Given the description of an element on the screen output the (x, y) to click on. 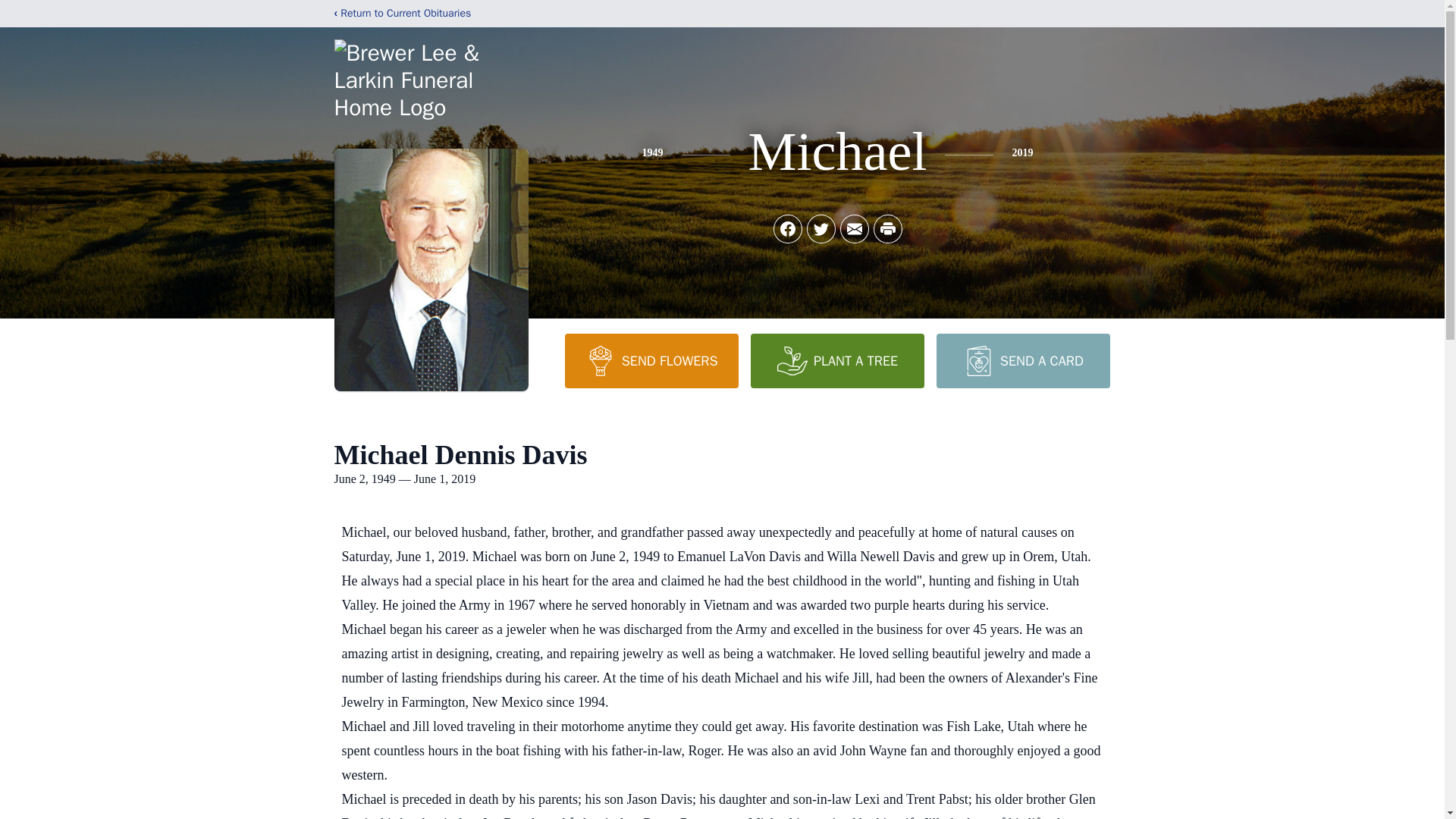
SEND FLOWERS (651, 360)
SEND A CARD (1022, 360)
PLANT A TREE (837, 360)
